Given the description of an element on the screen output the (x, y) to click on. 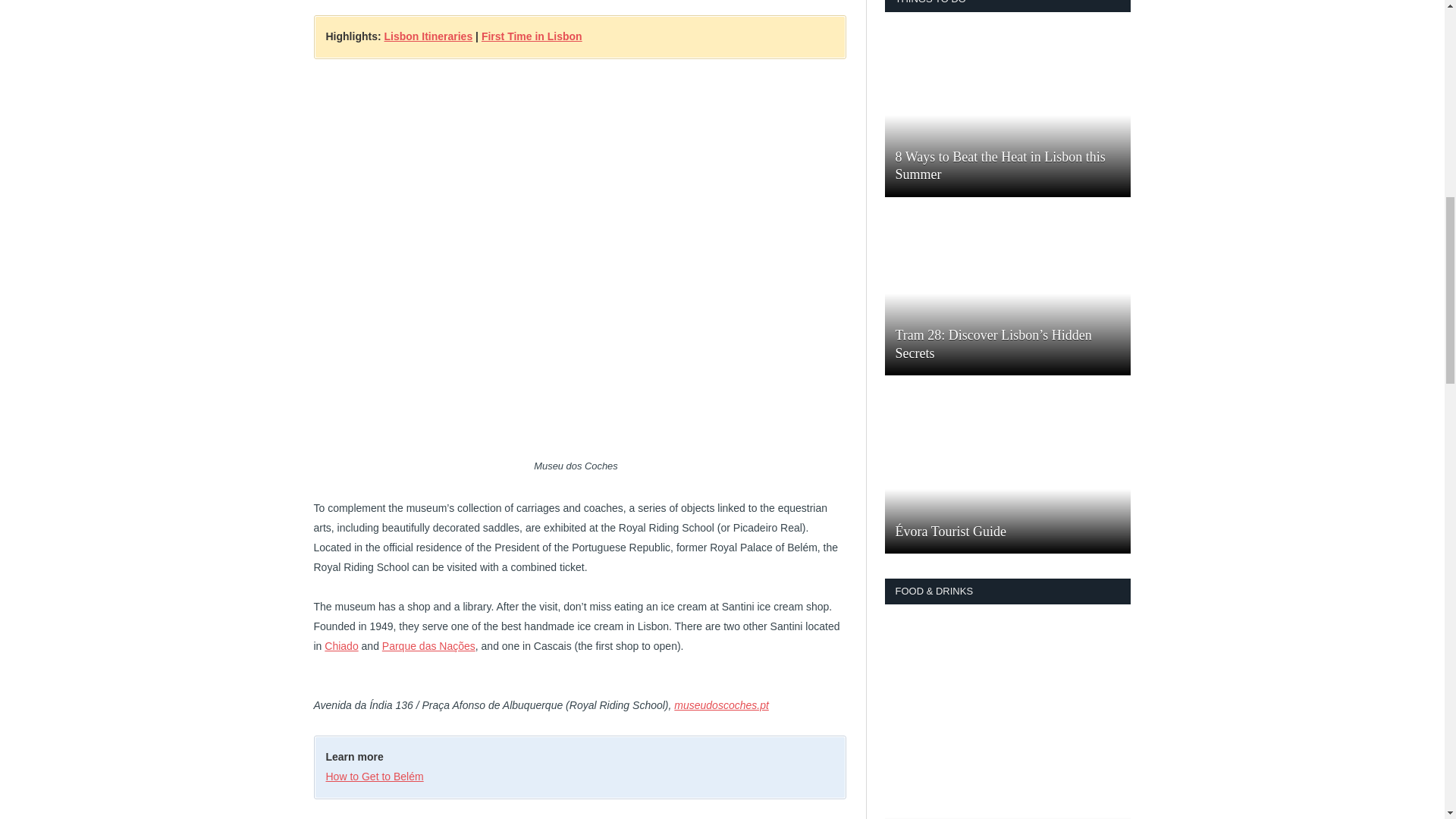
First Time in Lisbon (531, 36)
museudoscoches.pt (721, 705)
Chiado (341, 645)
Lisbon Itineraries (427, 36)
